Given the description of an element on the screen output the (x, y) to click on. 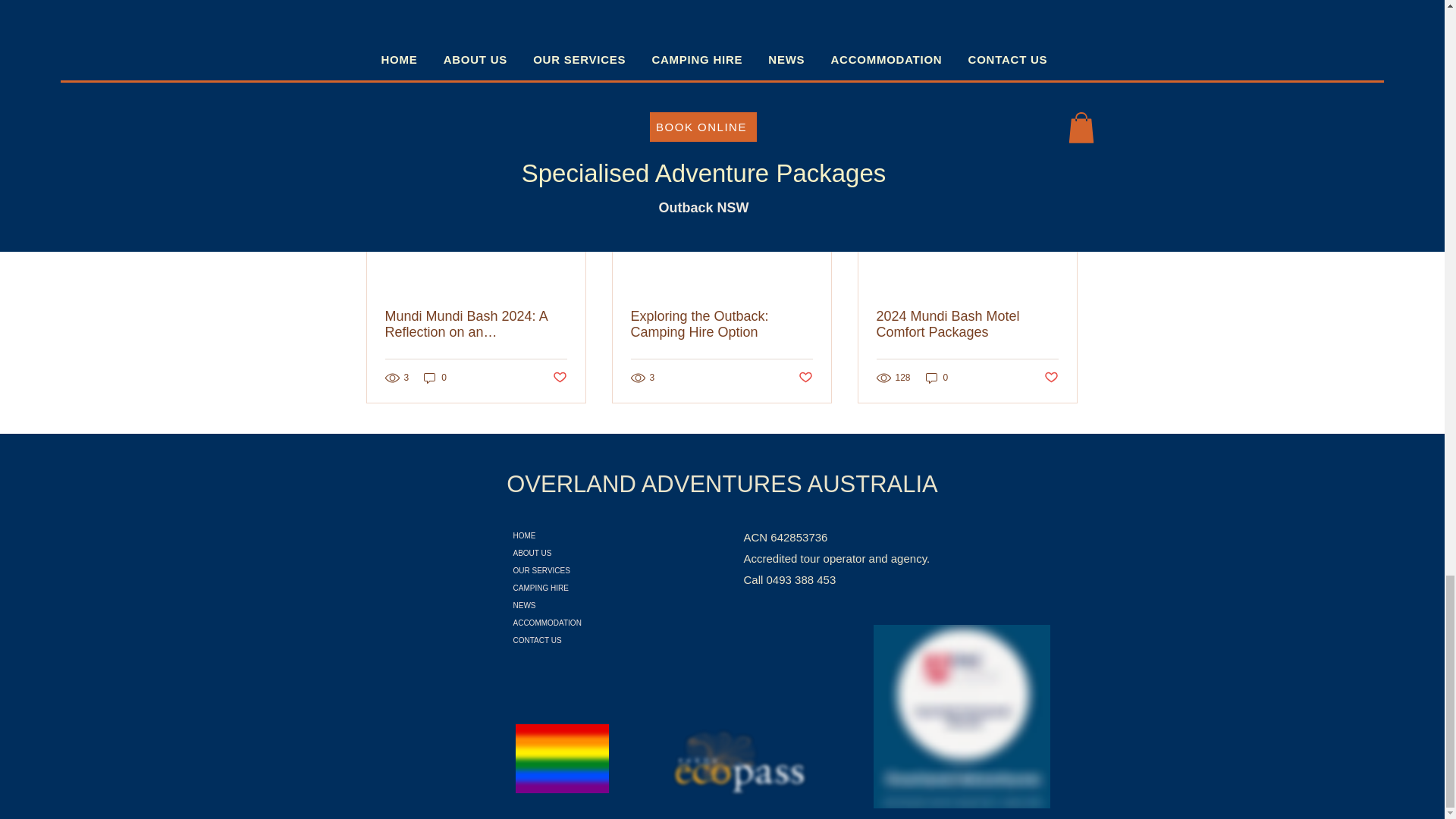
0 (937, 377)
Post not marked as liked (995, 57)
Post not marked as liked (804, 377)
Post not marked as liked (558, 377)
Exploring the Outback: Camping Hire Option (721, 324)
See All (1061, 140)
OVERLAND ADVENTURES AUSTRALIA (721, 483)
0 (435, 377)
HOME (581, 535)
